Given the description of an element on the screen output the (x, y) to click on. 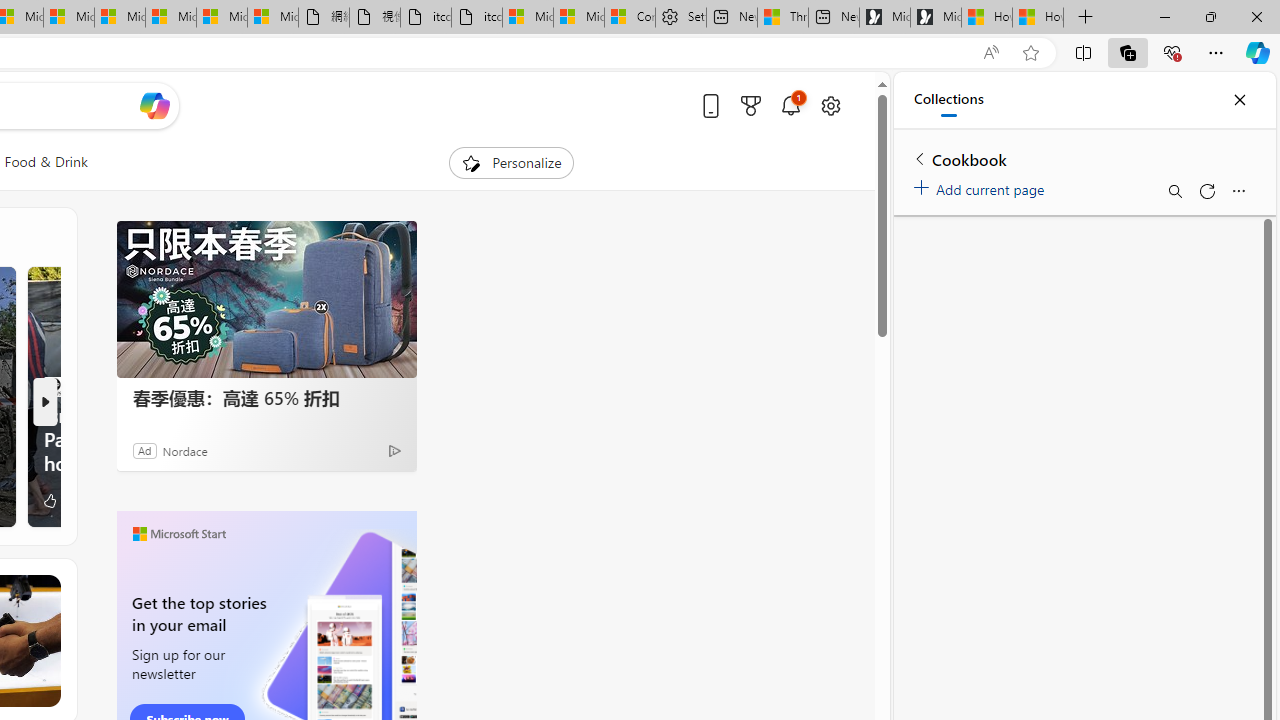
More options menu (1238, 190)
